Given the description of an element on the screen output the (x, y) to click on. 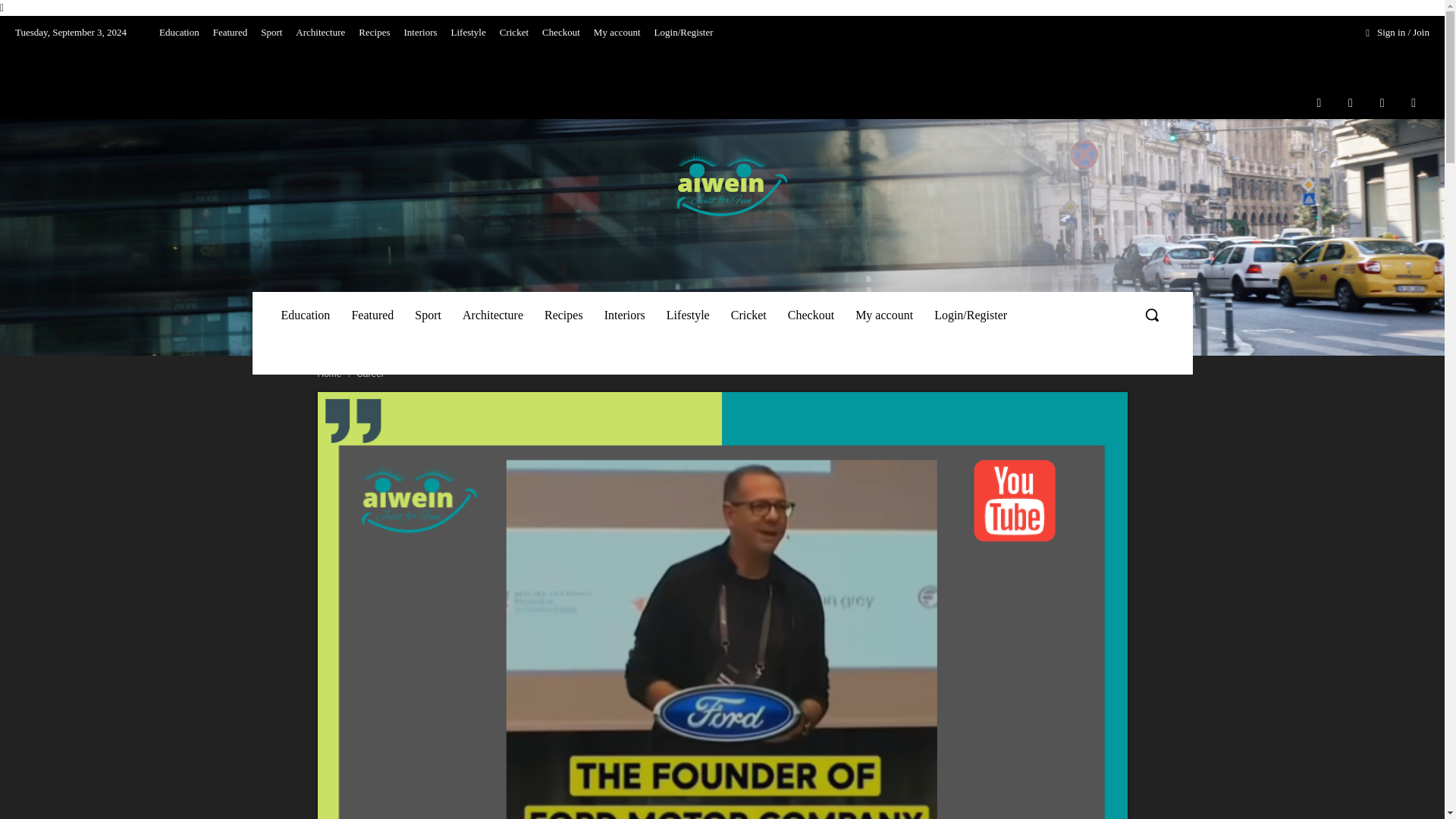
Instagram (1351, 102)
Interiors (420, 32)
Education (179, 32)
Youtube (1413, 102)
Sport (270, 32)
Twitter (1382, 102)
Featured (229, 32)
Checkout (560, 32)
Facebook (1319, 102)
Recipes (374, 32)
